Given the description of an element on the screen output the (x, y) to click on. 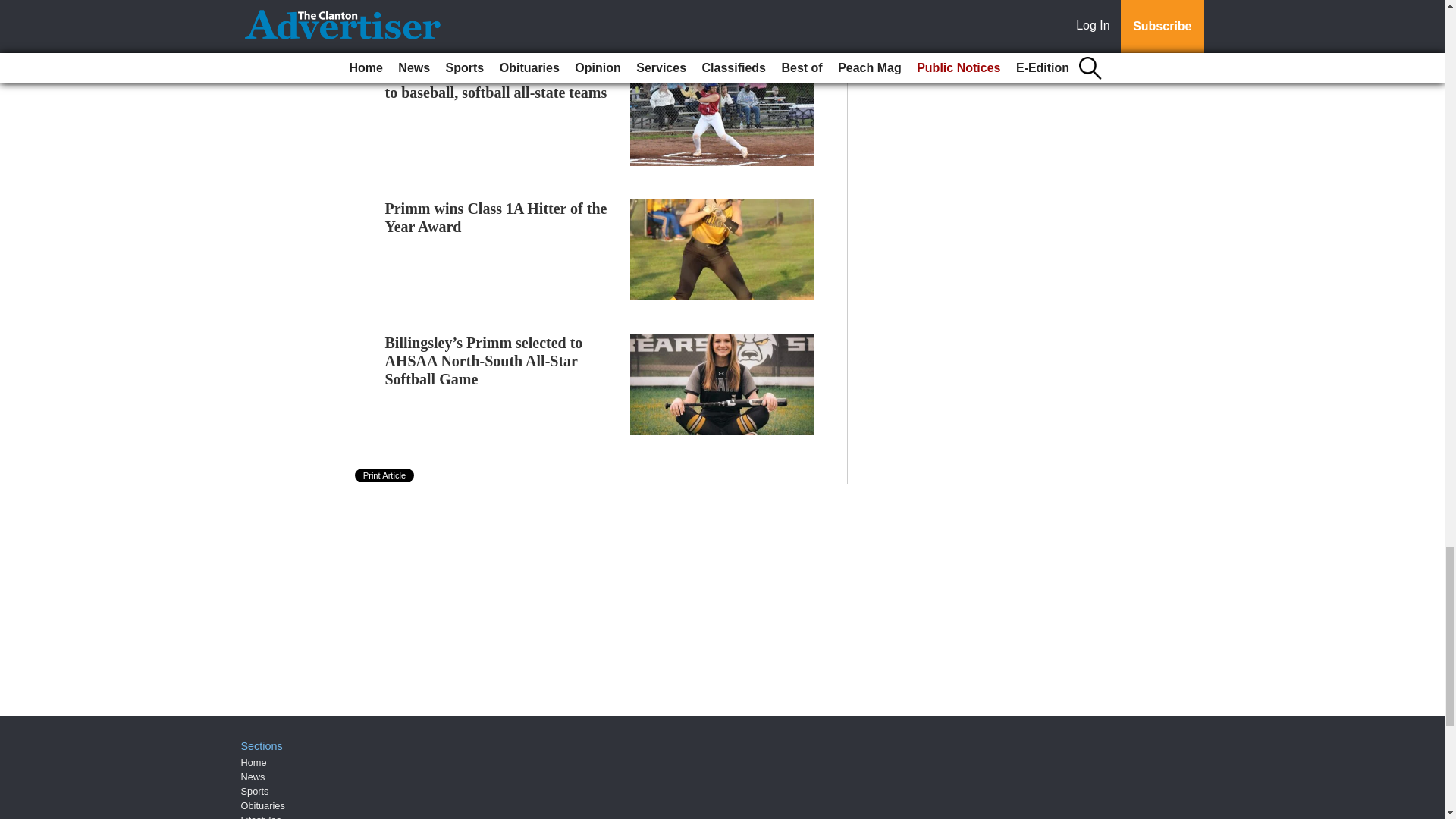
Home (253, 762)
Primm wins Class 1A Hitter of the Year Award (496, 217)
Primm wins Class 1A Hitter of the Year Award (496, 217)
Print Article (384, 475)
